Given the description of an element on the screen output the (x, y) to click on. 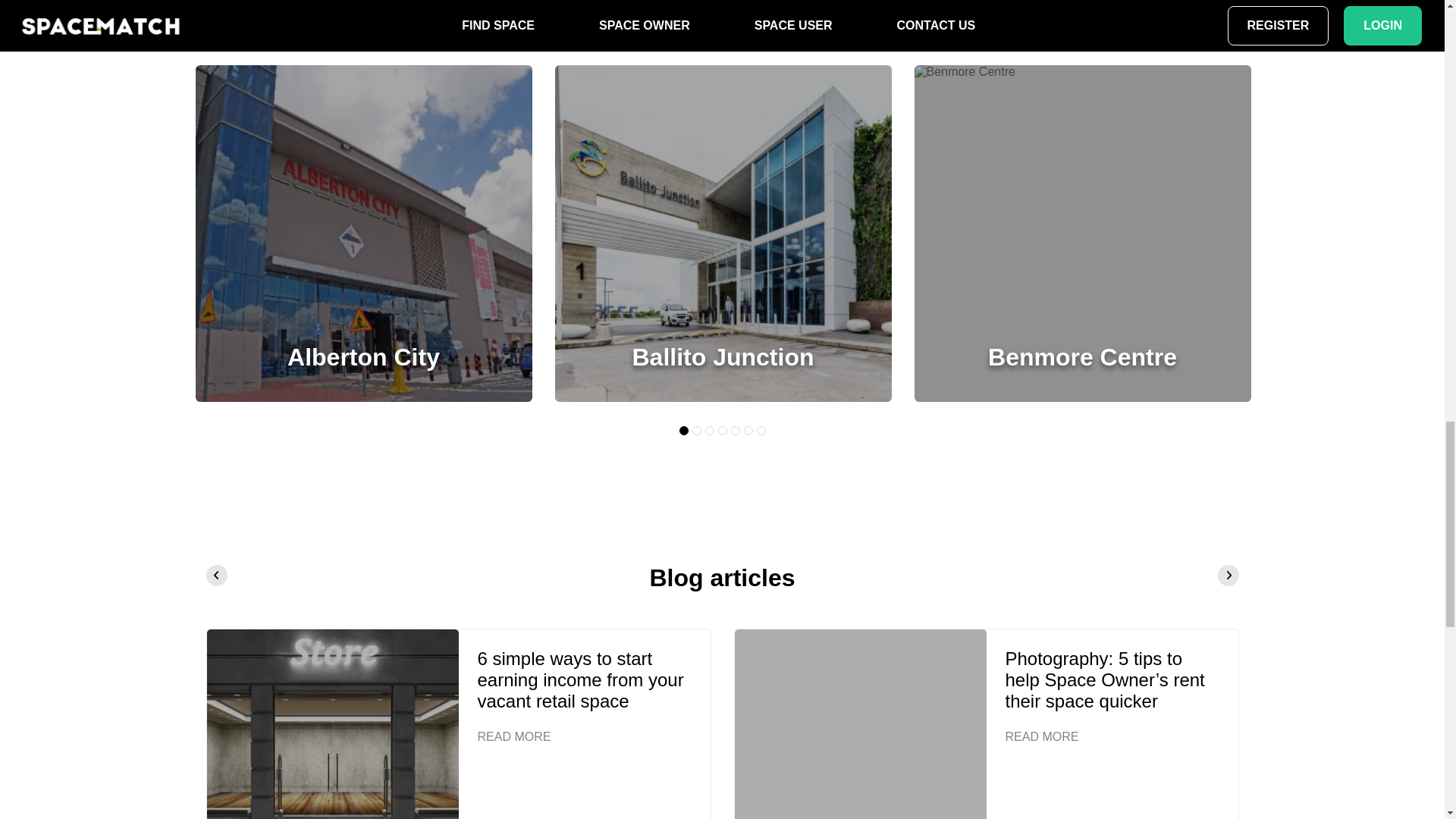
Alberton City (362, 357)
Benmore Centre (1082, 357)
Ballito Junction (722, 357)
